Given the description of an element on the screen output the (x, y) to click on. 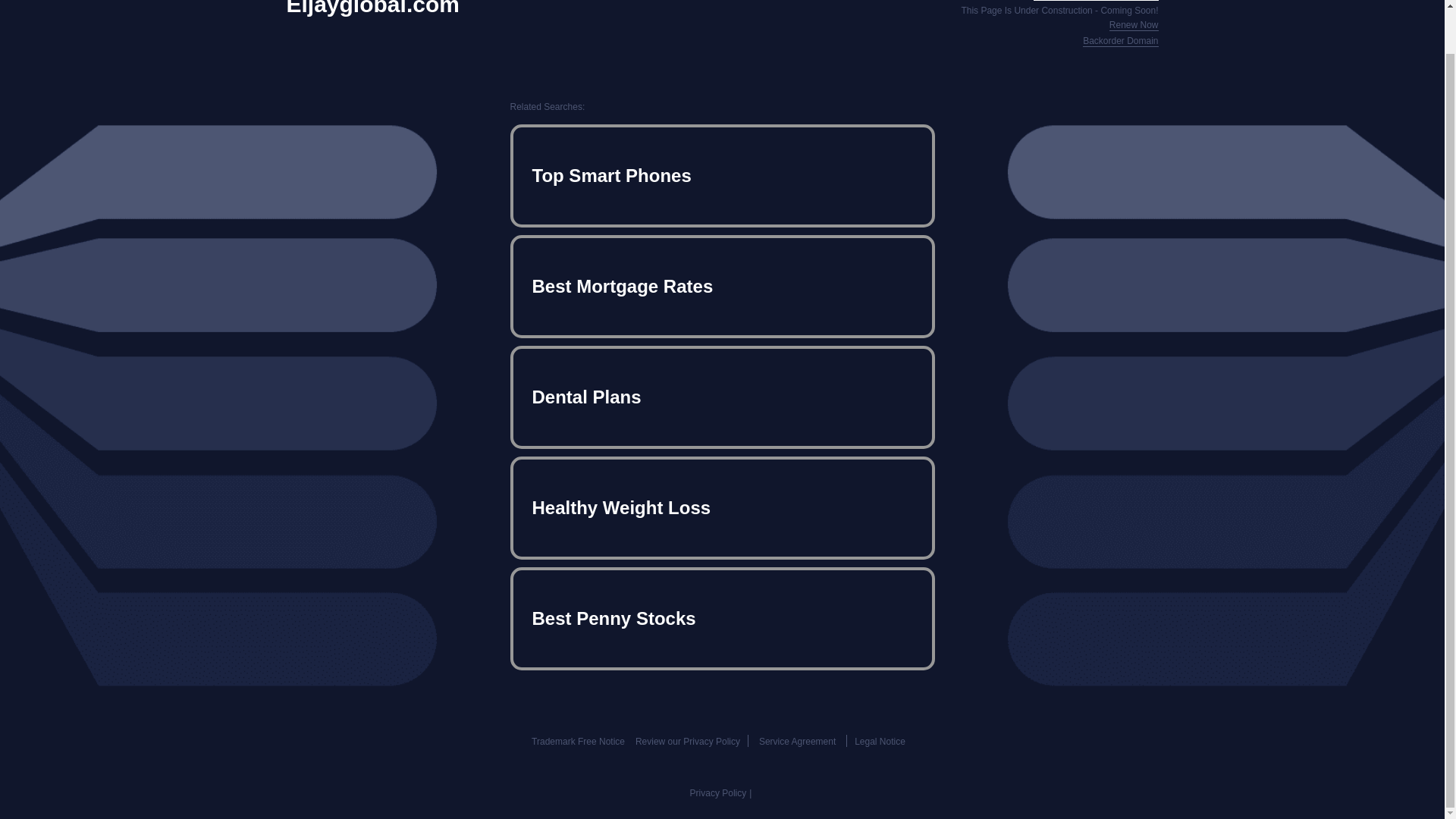
Review our Privacy Policy (686, 741)
Top Smart Phones (721, 175)
Top Smart Phones (721, 175)
Renew Now (1133, 25)
Trademark Free Notice (577, 741)
Dental Plans (721, 396)
Best Mortgage Rates (721, 286)
Privacy Policy (718, 792)
Best Penny Stocks (721, 618)
Legal Notice (879, 741)
Service Agreement (796, 741)
Healthy Weight Loss (721, 507)
Eljayglobal.com (373, 8)
Healthy Weight Loss (721, 507)
Backorder Domain (1120, 41)
